Given the description of an element on the screen output the (x, y) to click on. 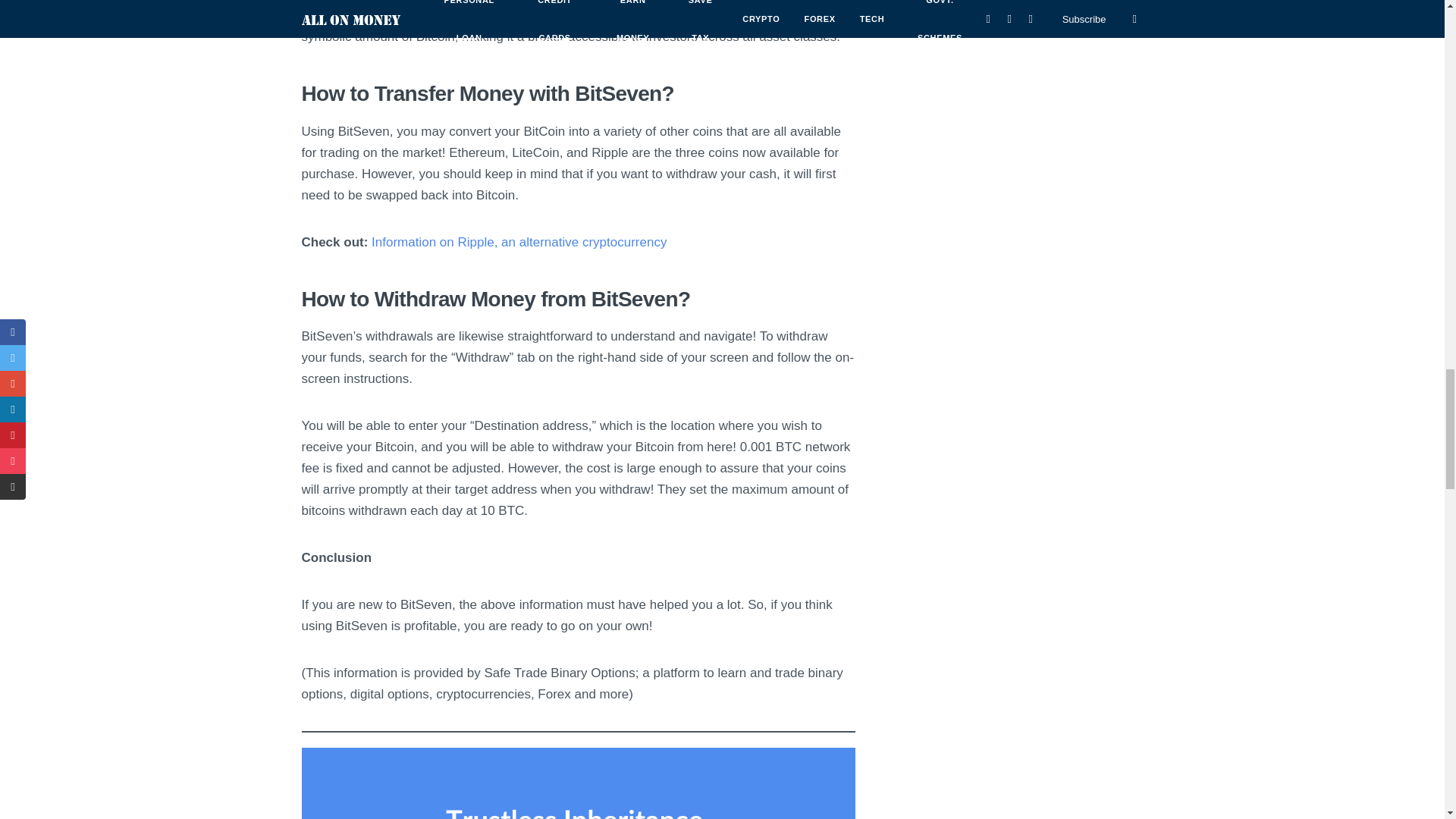
Information on Ripple, an alternative cryptocurrency (518, 242)
